Given the description of an element on the screen output the (x, y) to click on. 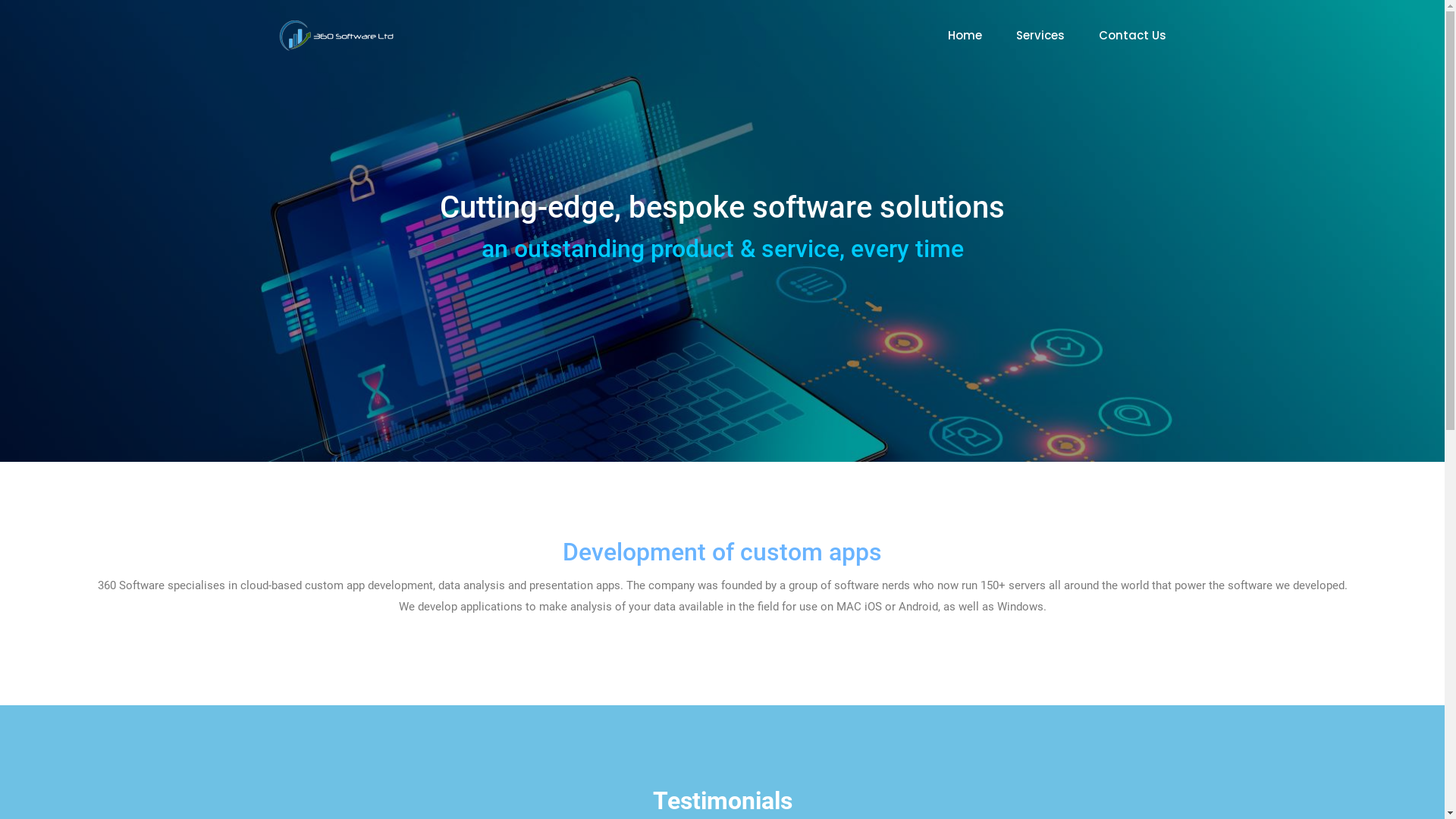
Home Element type: text (964, 34)
Services Element type: text (1040, 34)
Contact Us Element type: text (1131, 34)
